Given the description of an element on the screen output the (x, y) to click on. 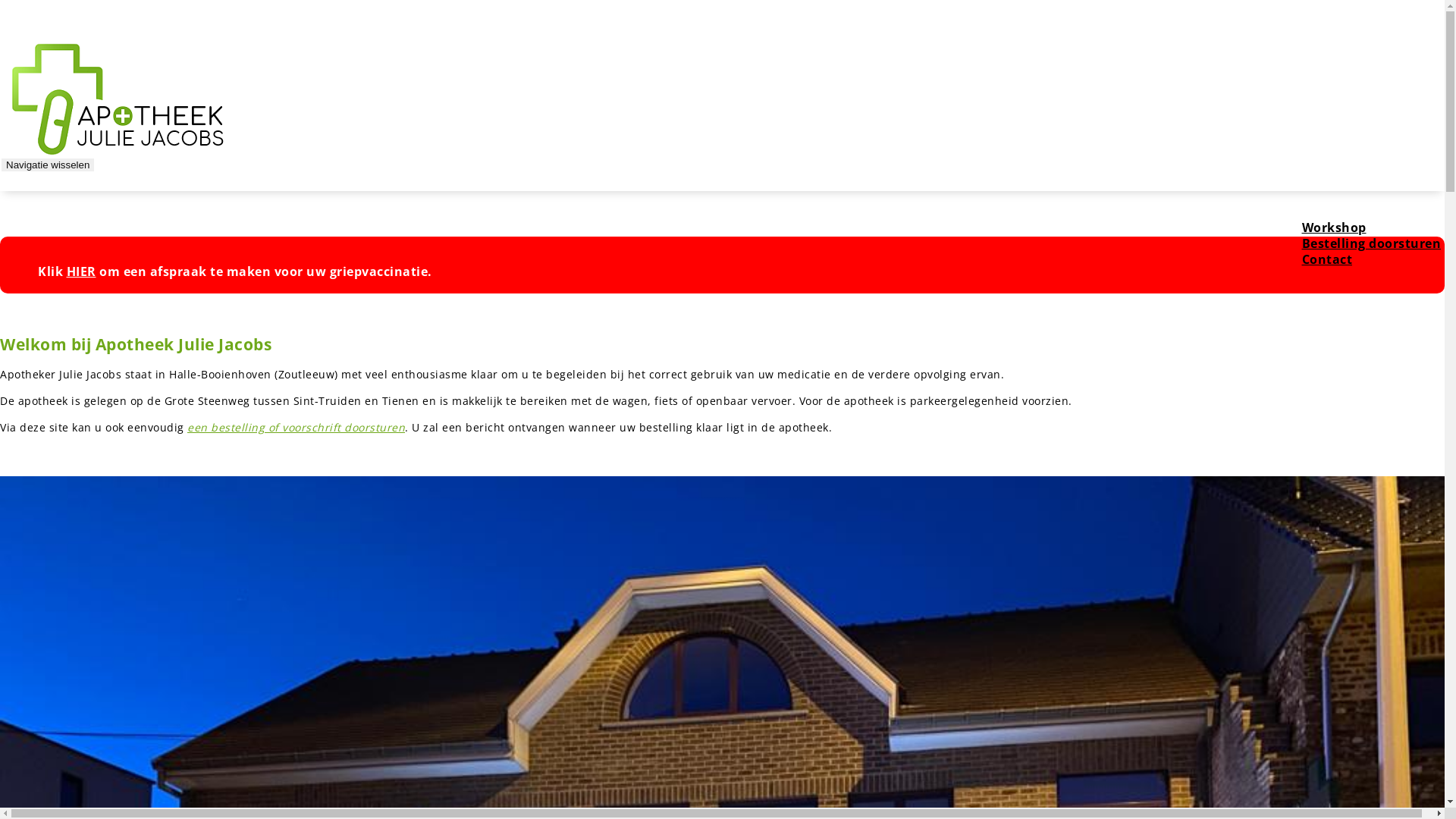
Navigatie wisselen Element type: text (47, 164)
Workshop Element type: text (1333, 227)
Contact Element type: text (1326, 259)
Naar de inhoud springen Element type: text (0, 0)
HIER Element type: text (81, 271)
een bestelling of voorschrift doorsturen Element type: text (295, 427)
